Given the description of an element on the screen output the (x, y) to click on. 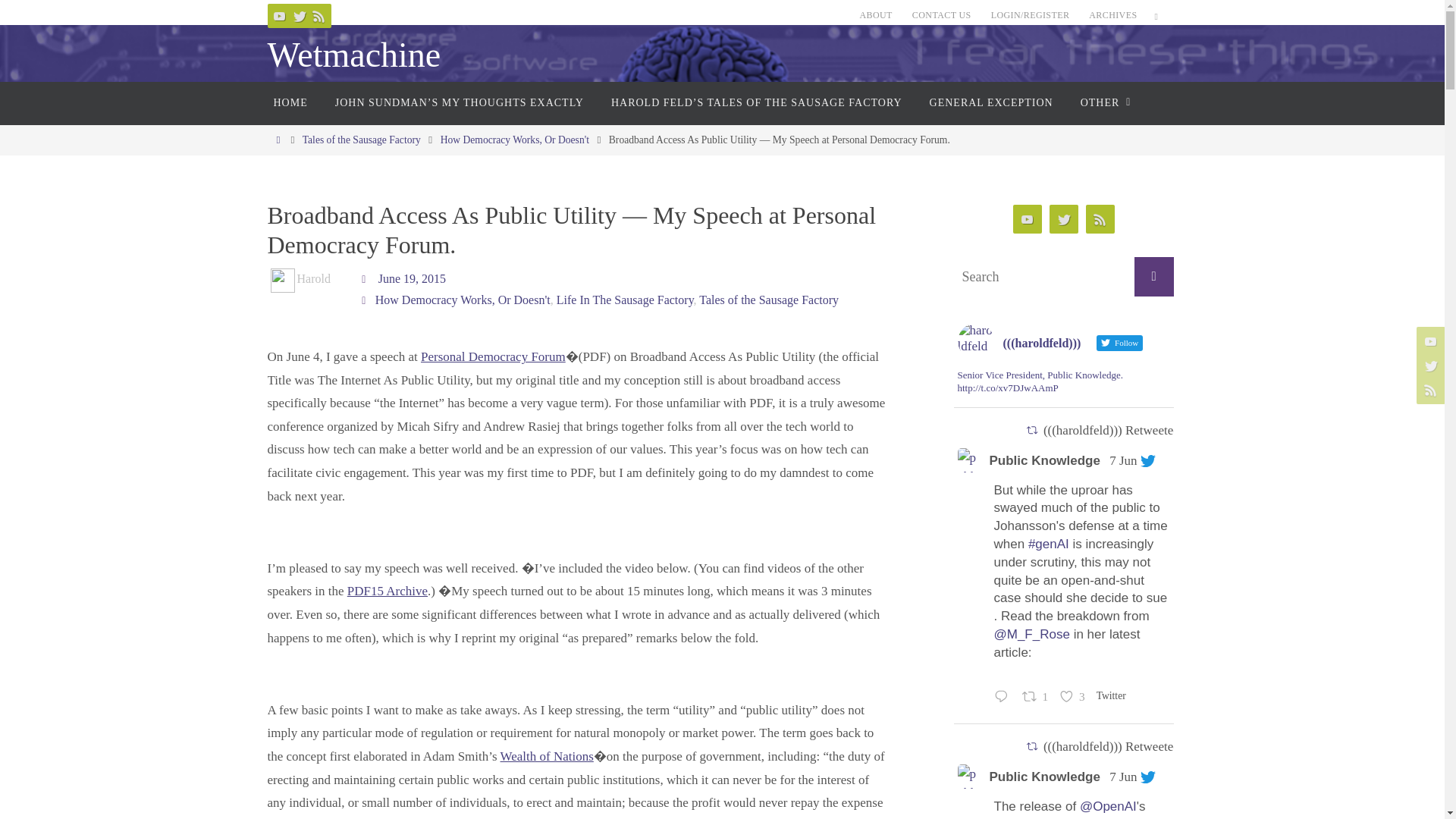
Personal Democracy Forum (493, 356)
GENERAL EXCEPTION (991, 102)
Tales of the Sausage Factory (361, 139)
Date (365, 278)
OTHER (1102, 102)
Twitter (298, 15)
RSS (317, 15)
PDF15 Archive (387, 590)
Home (277, 139)
June 19, 2015 (411, 278)
